Given the description of an element on the screen output the (x, y) to click on. 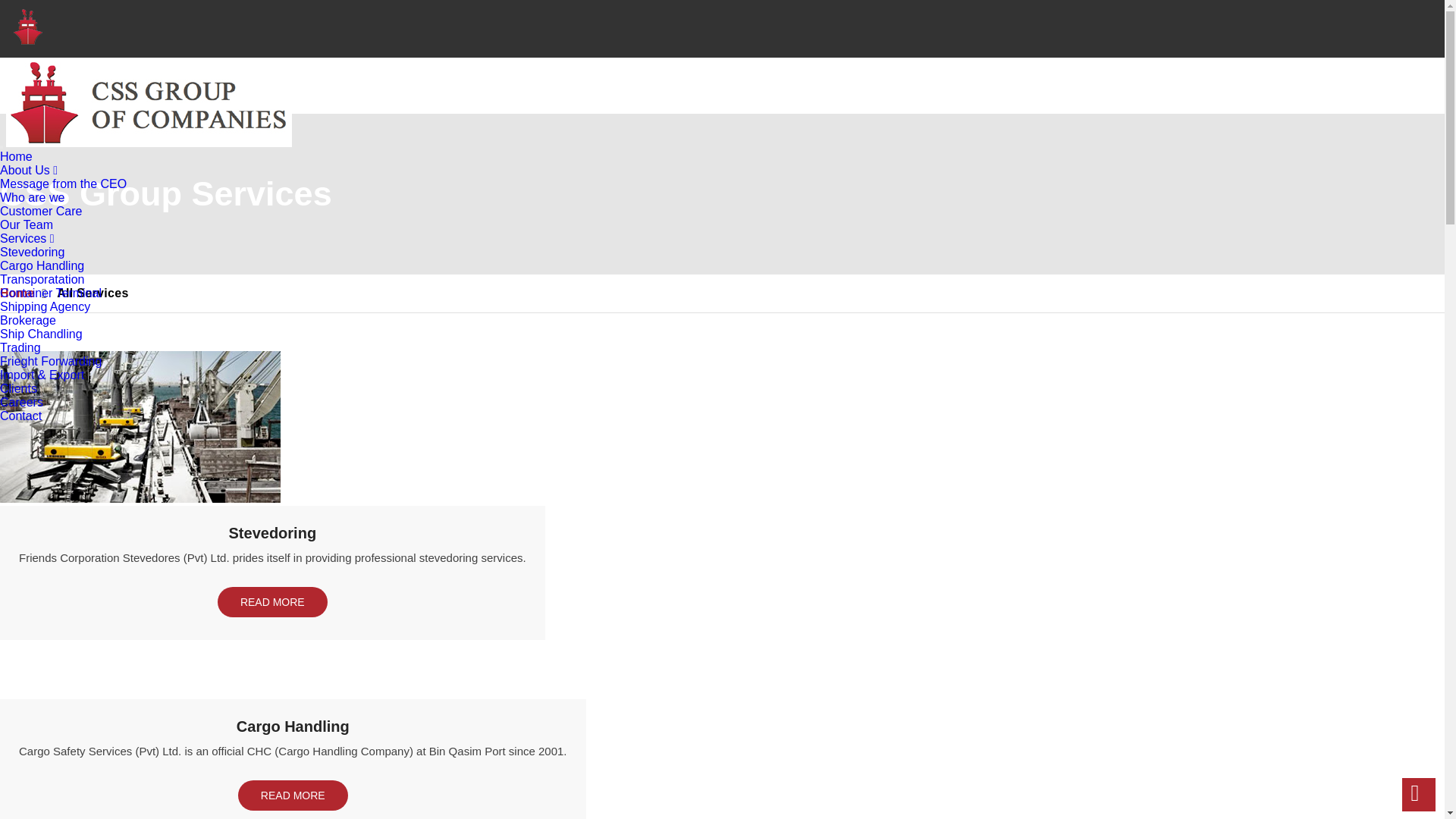
Our Team (26, 224)
Clients (18, 388)
Container Terminal (50, 292)
Transporatation (42, 278)
Careers (21, 401)
Shipping Agency (45, 306)
About Us (29, 169)
Stevedoring (32, 251)
Ship Chandling (41, 333)
Services (27, 237)
Scroll to Top (1418, 794)
Frieght Forwarding (50, 360)
Trading (20, 347)
Who are we (32, 196)
